Given the description of an element on the screen output the (x, y) to click on. 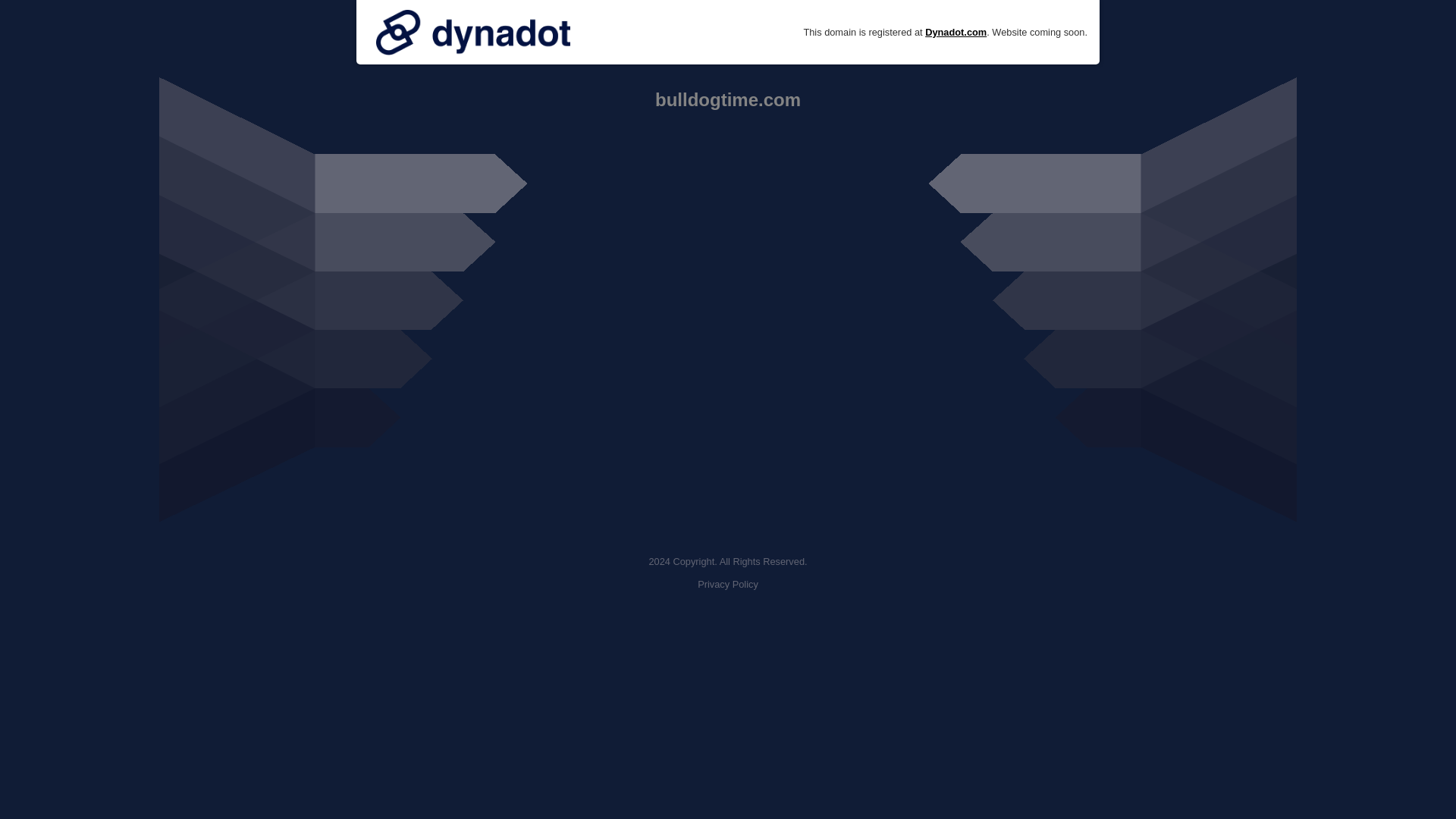
Domain managed at Dynadot.com (473, 31)
Dynadot.com (955, 31)
Privacy Policy (727, 583)
